Given the description of an element on the screen output the (x, y) to click on. 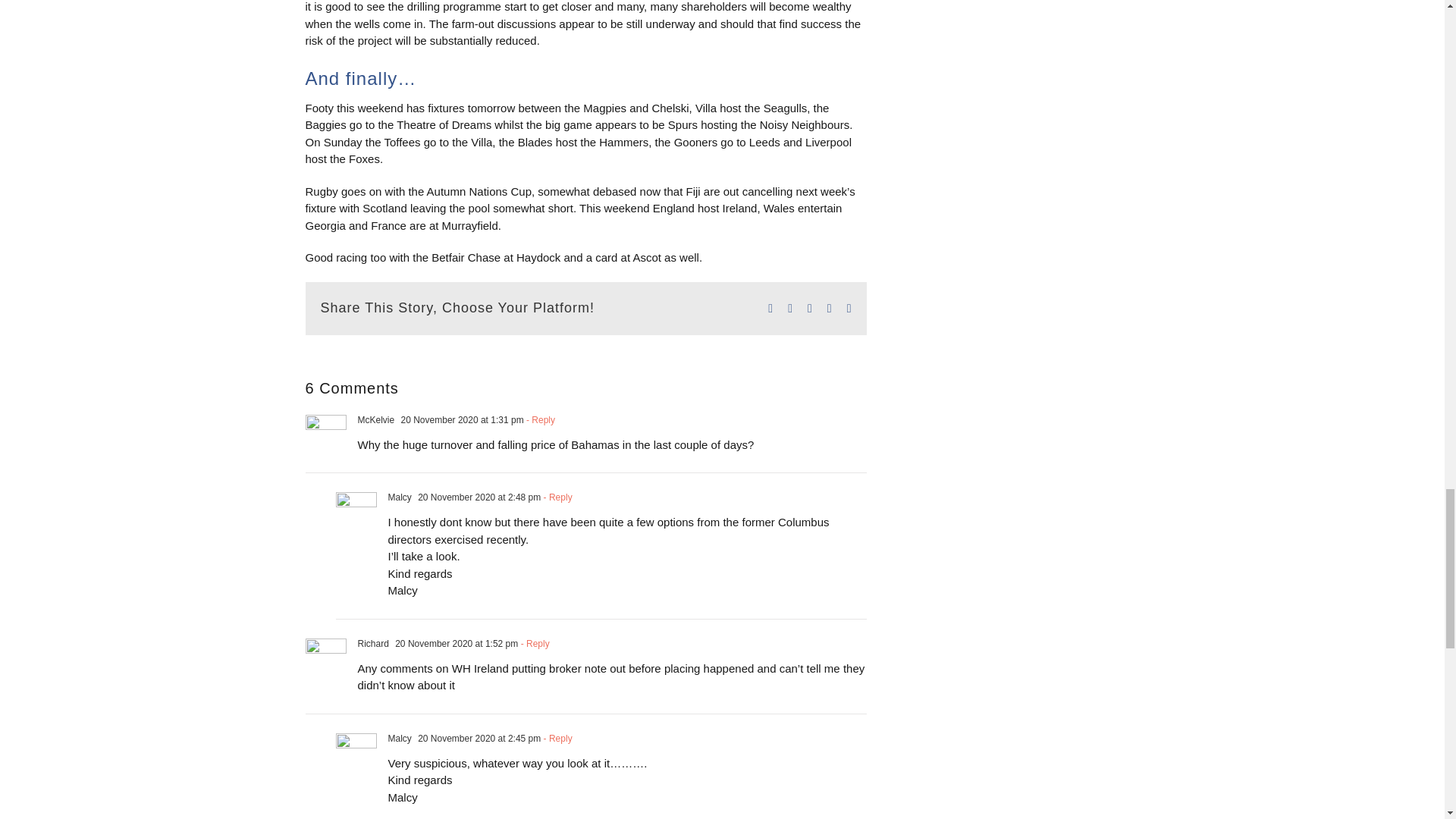
- Reply (556, 737)
- Reply (533, 643)
- Reply (556, 497)
- Reply (539, 419)
